Given the description of an element on the screen output the (x, y) to click on. 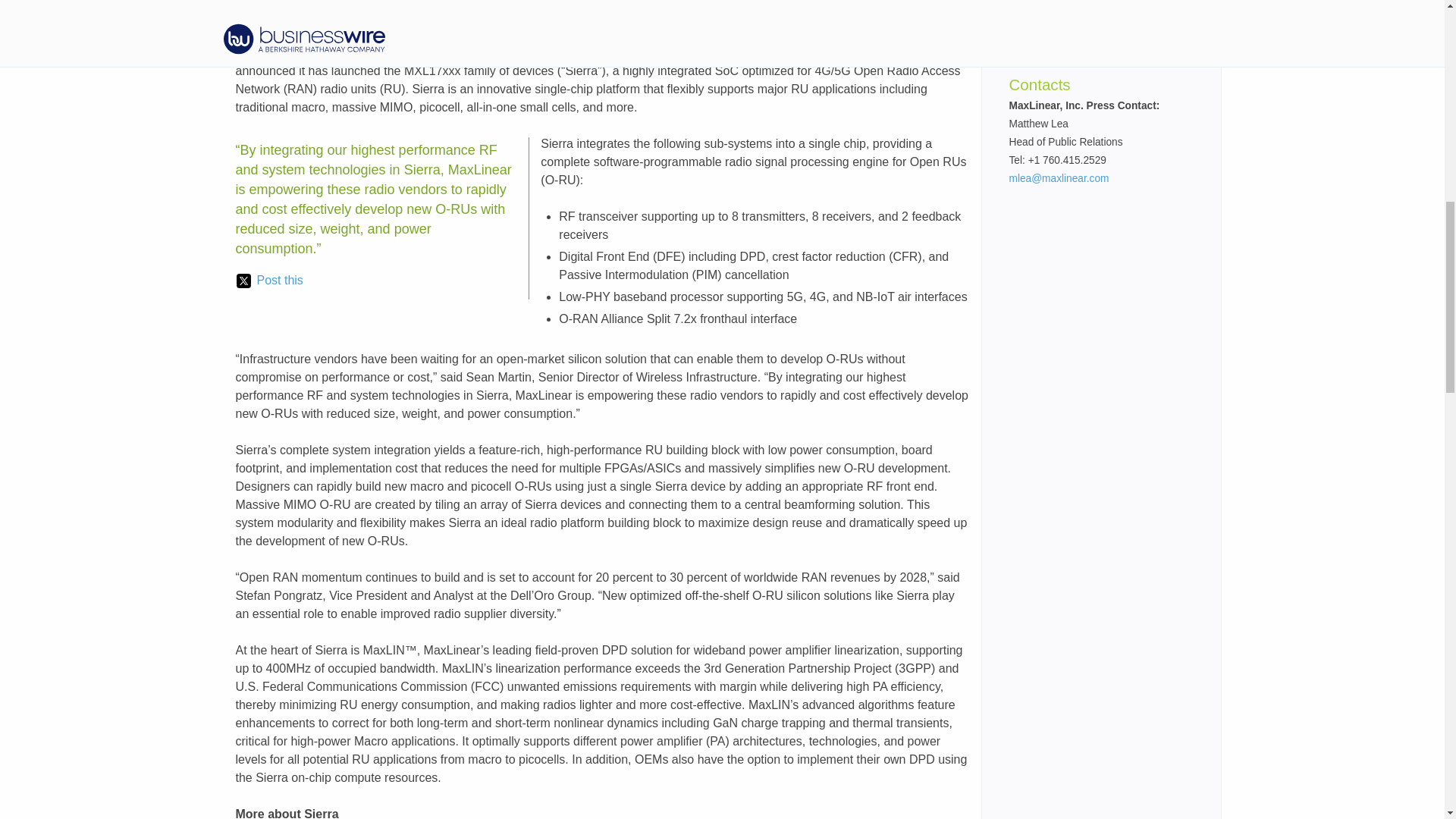
BUSINESS WIRE (395, 51)
Post this (269, 280)
